Given the description of an element on the screen output the (x, y) to click on. 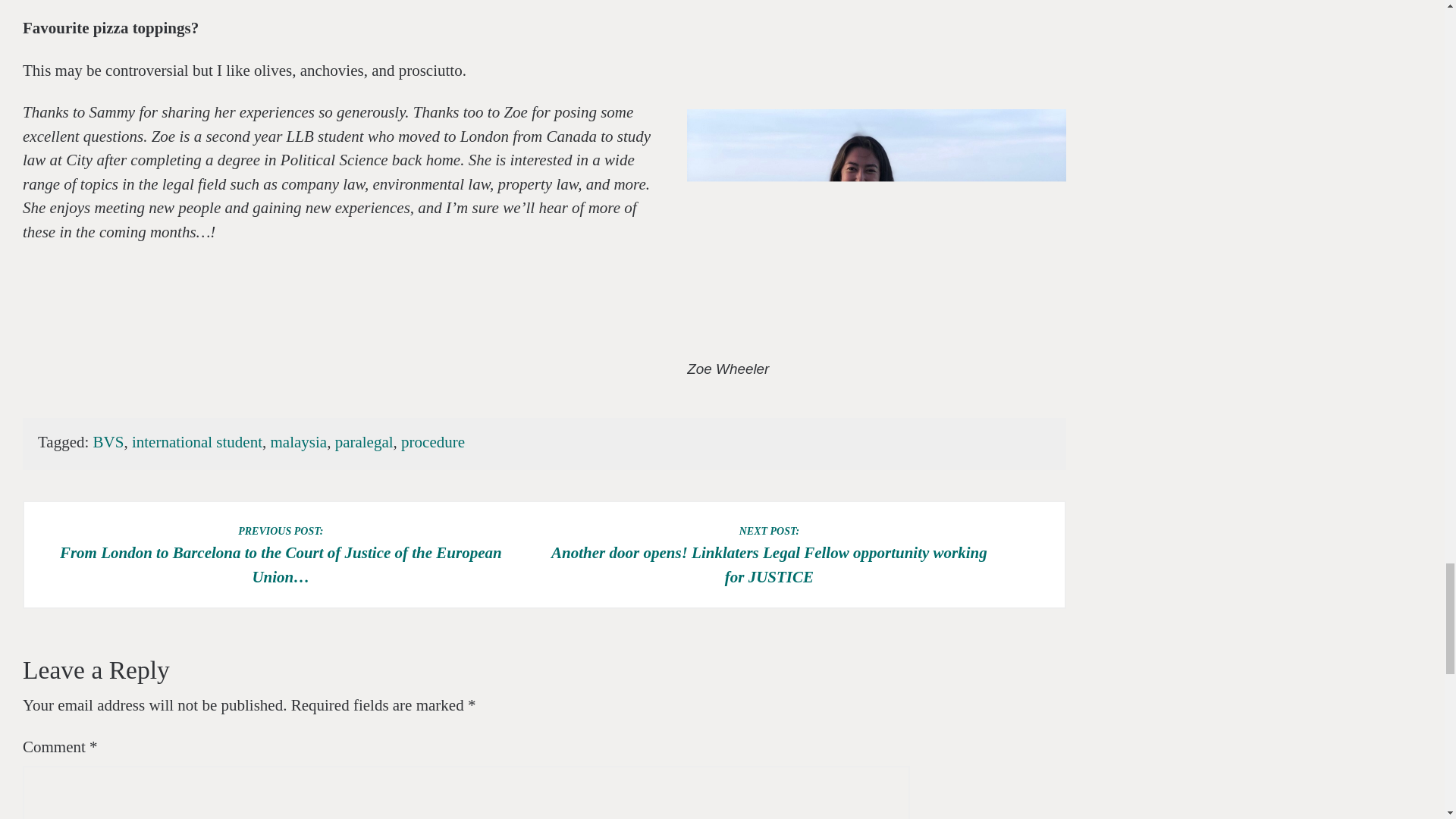
paralegal (363, 442)
international student (197, 442)
BVS (108, 442)
procedure (432, 442)
malaysia (297, 442)
